Given the description of an element on the screen output the (x, y) to click on. 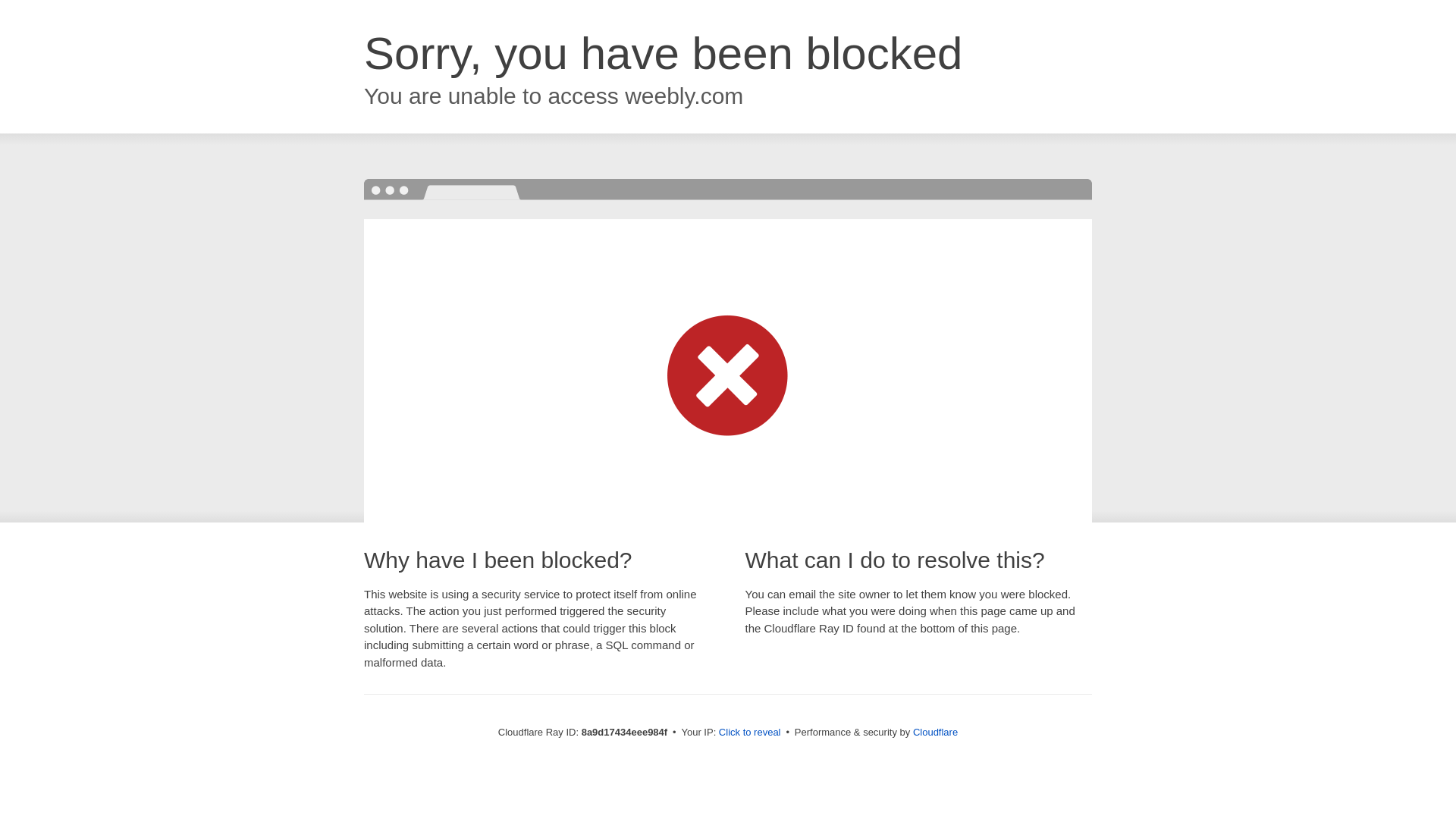
Cloudflare (935, 731)
Click to reveal (749, 732)
